Given the description of an element on the screen output the (x, y) to click on. 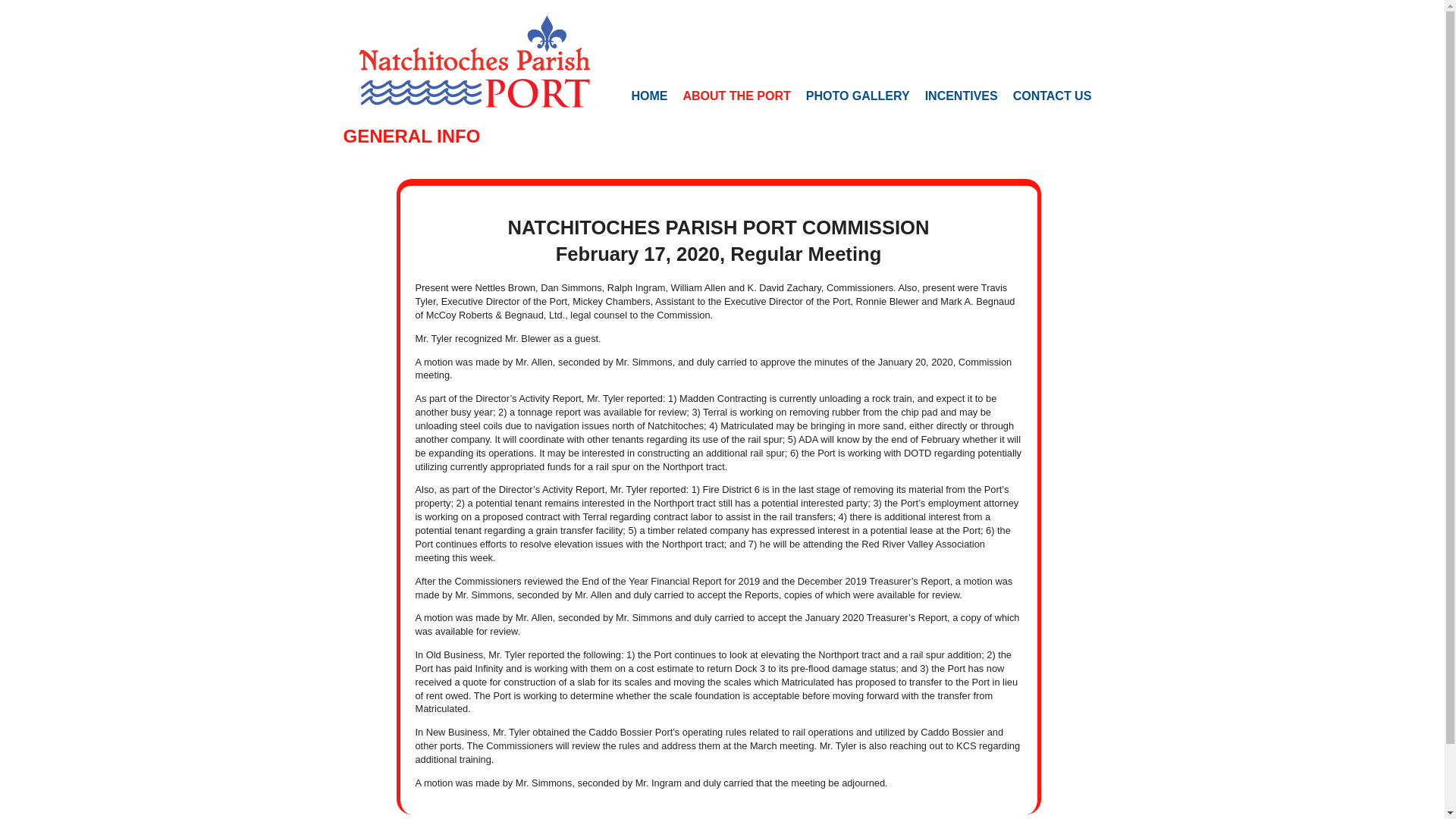
HOME (649, 96)
PHOTO GALLERY (857, 96)
INCENTIVES (961, 96)
ABOUT THE PORT (736, 96)
CONTACT US (1052, 96)
